Given the description of an element on the screen output the (x, y) to click on. 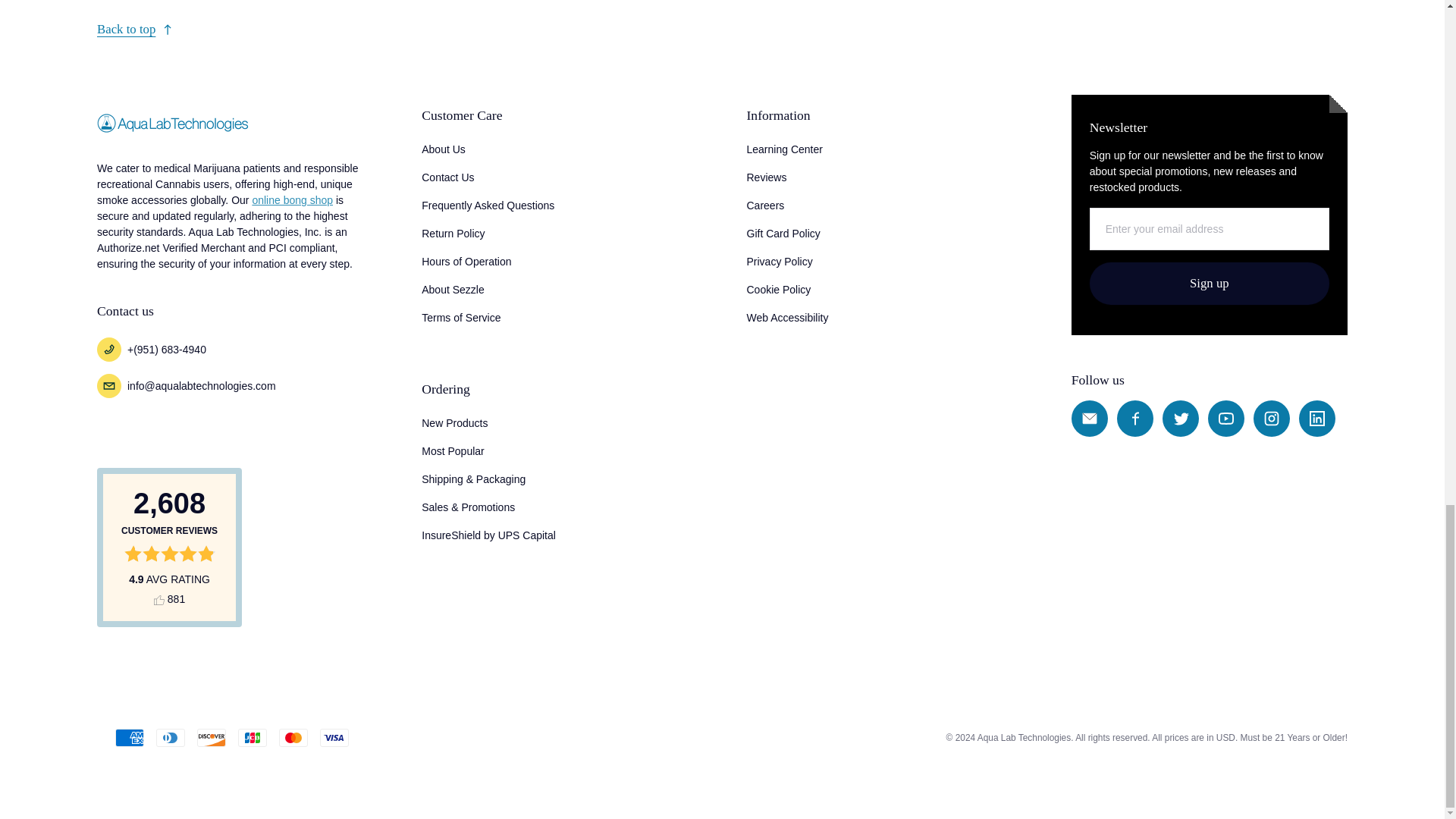
Youtube (1226, 418)
Twitter (1179, 418)
